Given the description of an element on the screen output the (x, y) to click on. 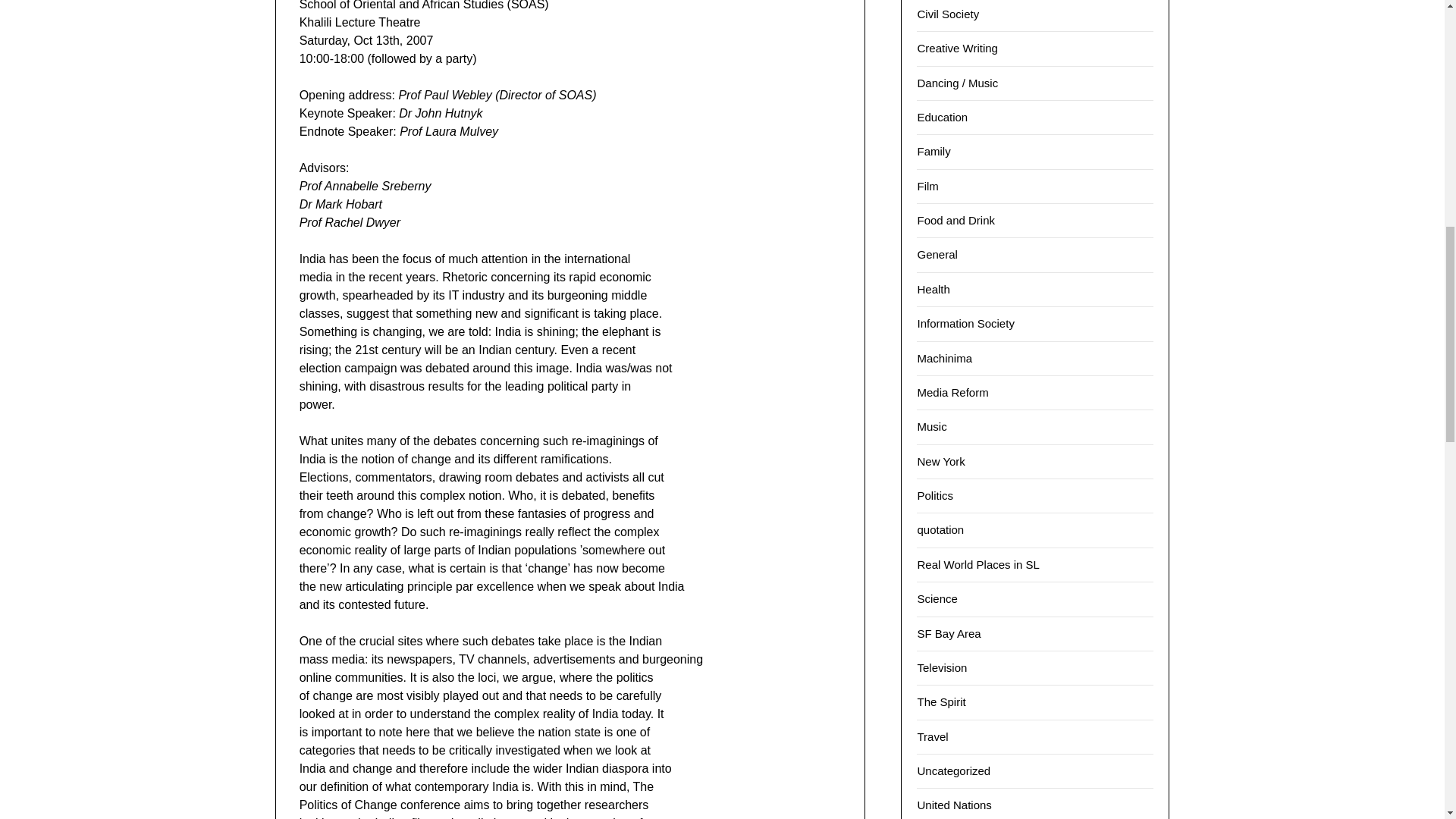
New York (940, 461)
Family (933, 151)
Film (927, 185)
quotation (940, 529)
Information Society (965, 323)
Politics (935, 495)
Food and Drink (955, 219)
Media Reform (952, 391)
Civil Society (947, 13)
Music (931, 426)
